Given the description of an element on the screen output the (x, y) to click on. 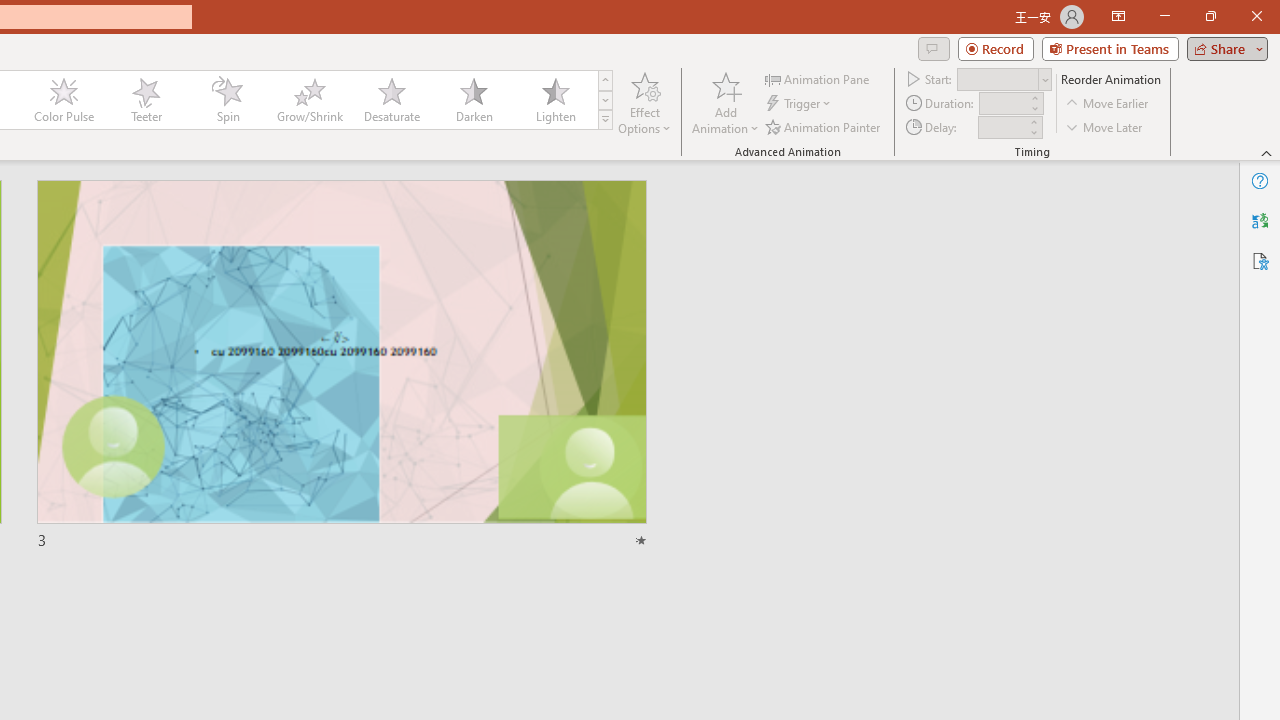
Desaturate (391, 100)
Move Earlier (1107, 103)
Lighten (555, 100)
